Given the description of an element on the screen output the (x, y) to click on. 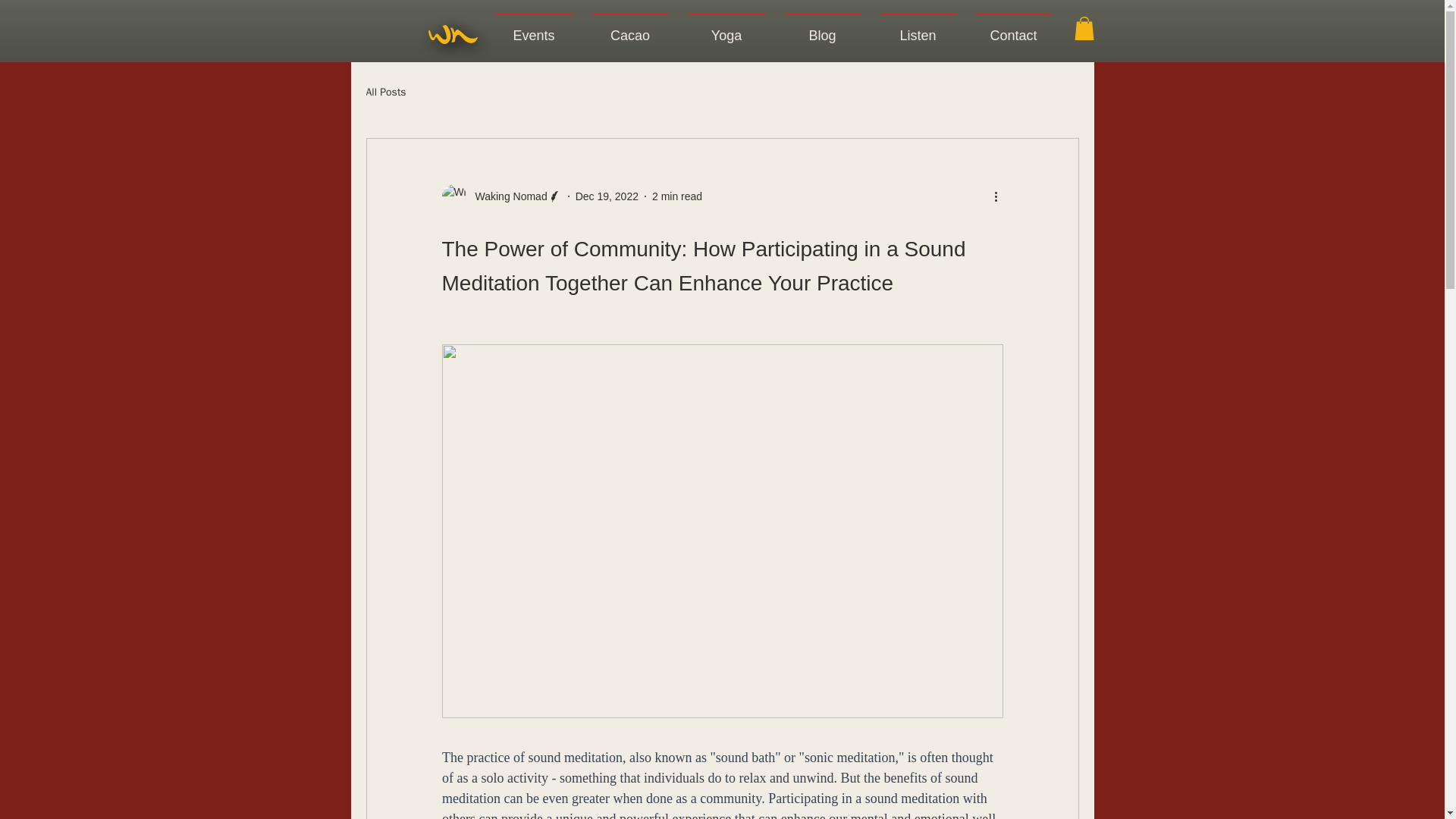
Listen (918, 28)
Cacao (630, 28)
Blog (822, 28)
Dec 19, 2022 (607, 196)
Contact (1013, 28)
Waking Nomad (506, 196)
2 min read (676, 196)
Yoga (726, 28)
All Posts (385, 92)
Events (532, 28)
Waking Nomad (500, 196)
